Given the description of an element on the screen output the (x, y) to click on. 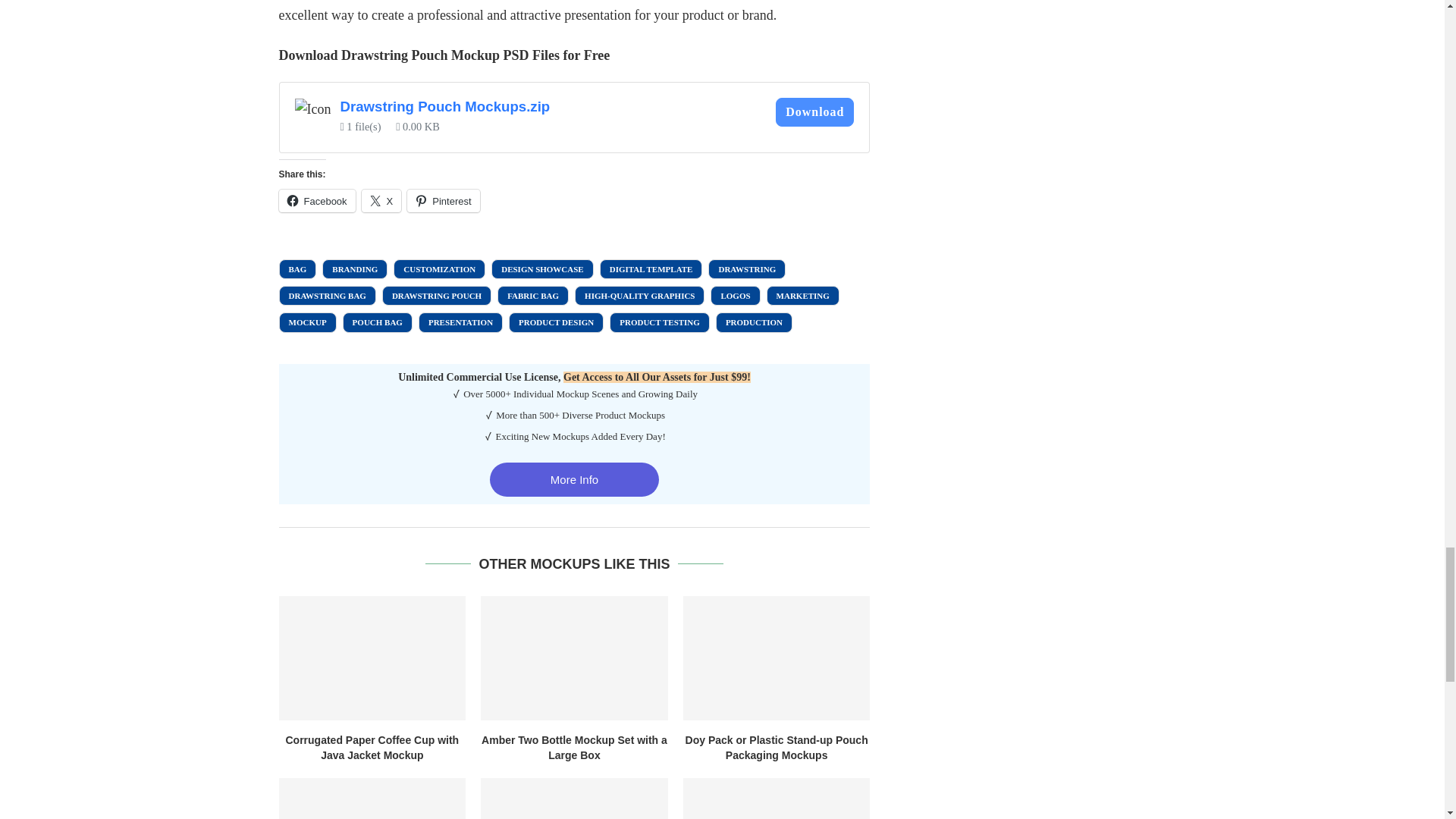
Click to share on Pinterest (443, 200)
Click to share on X (381, 200)
Amber Two Bottle Mockup Set with a Large Box (574, 658)
Corrugated Paper Coffee Cup with Java Jacket Mockup (372, 658)
Doy Pack or Plastic Stand-up Pouch Packaging Mockups (776, 658)
White Plastic Cosmetic Jar Mockups (776, 798)
Click to share on Facebook (317, 200)
Square Craft Paper Pouch Mockups (372, 798)
